Given the description of an element on the screen output the (x, y) to click on. 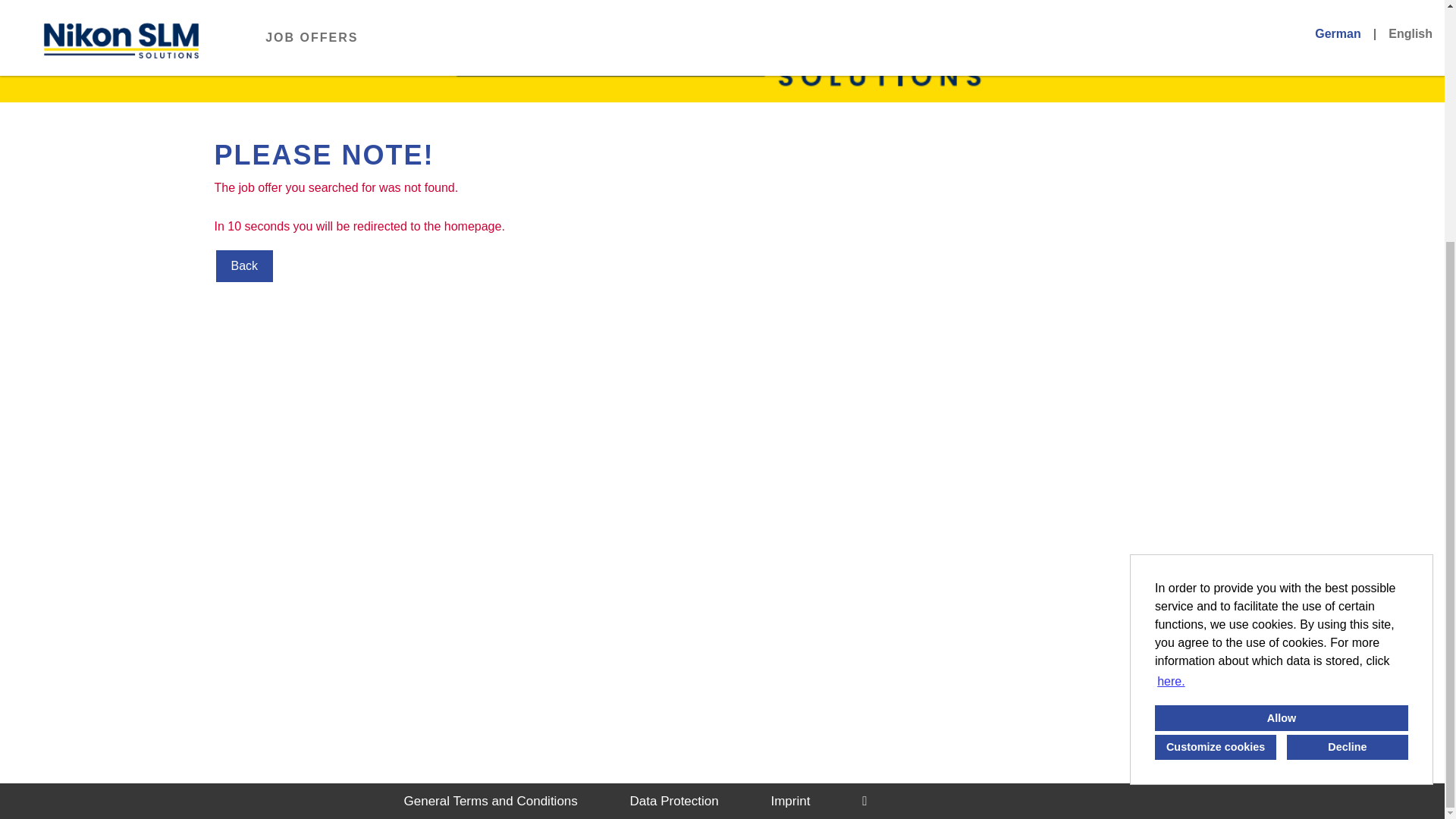
Back (244, 265)
Customize cookies (1215, 412)
Allow (1280, 383)
Data Protection (674, 800)
General Terms and Conditions (489, 800)
Decline (1347, 412)
Imprint (789, 800)
here. (1171, 346)
